Given the description of an element on the screen output the (x, y) to click on. 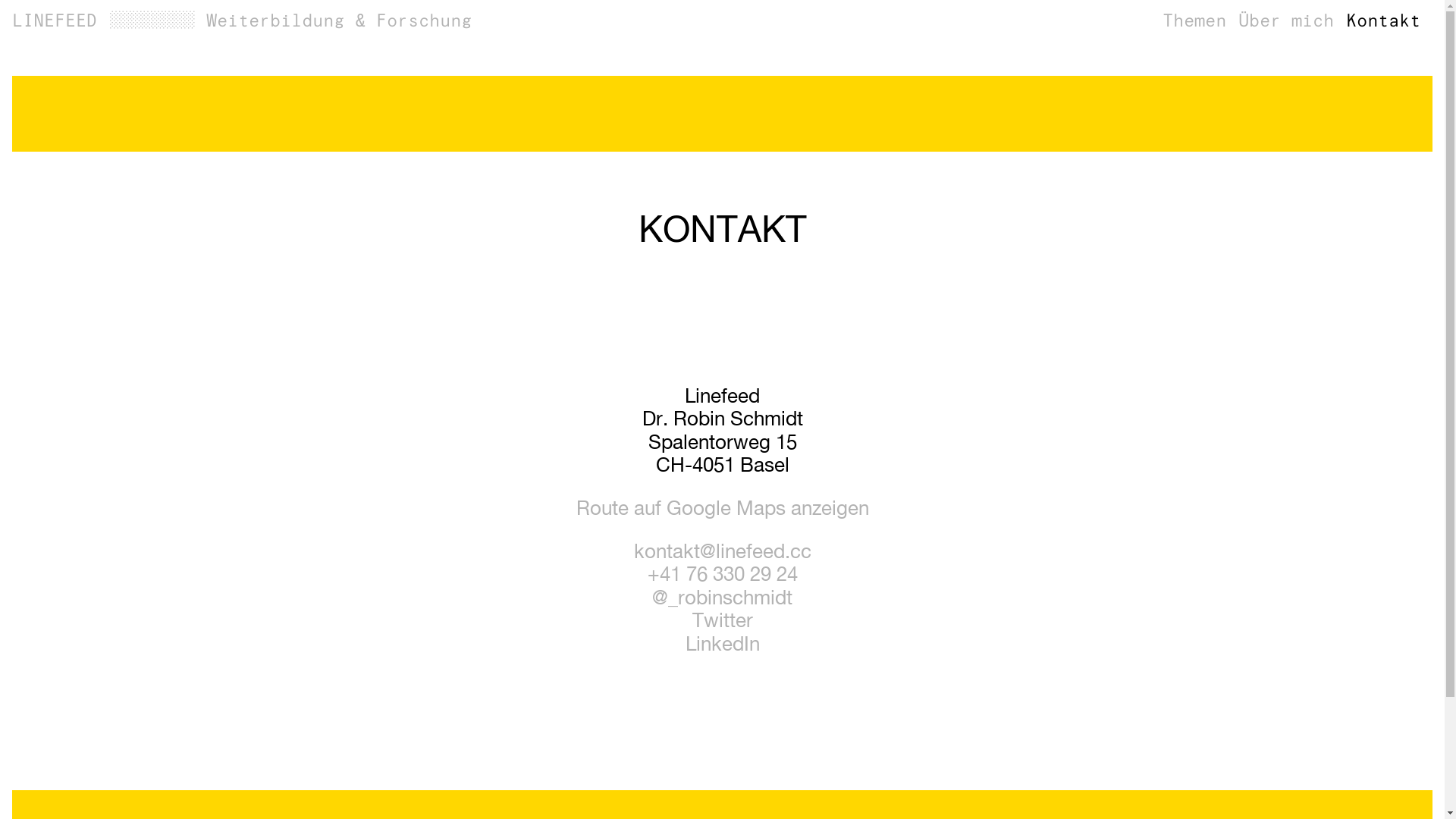
Kontakt Element type: text (1383, 21)
kontakt@linefeed.cc Element type: text (722, 552)
LinkedIn Element type: text (722, 645)
+41 76 330 29 24 Element type: text (722, 575)
Twitter Element type: text (721, 621)
Themen Element type: text (1194, 21)
Route auf Google Maps anzeigen Element type: text (722, 509)
@_robinschmidt Element type: text (722, 598)
